Given the description of an element on the screen output the (x, y) to click on. 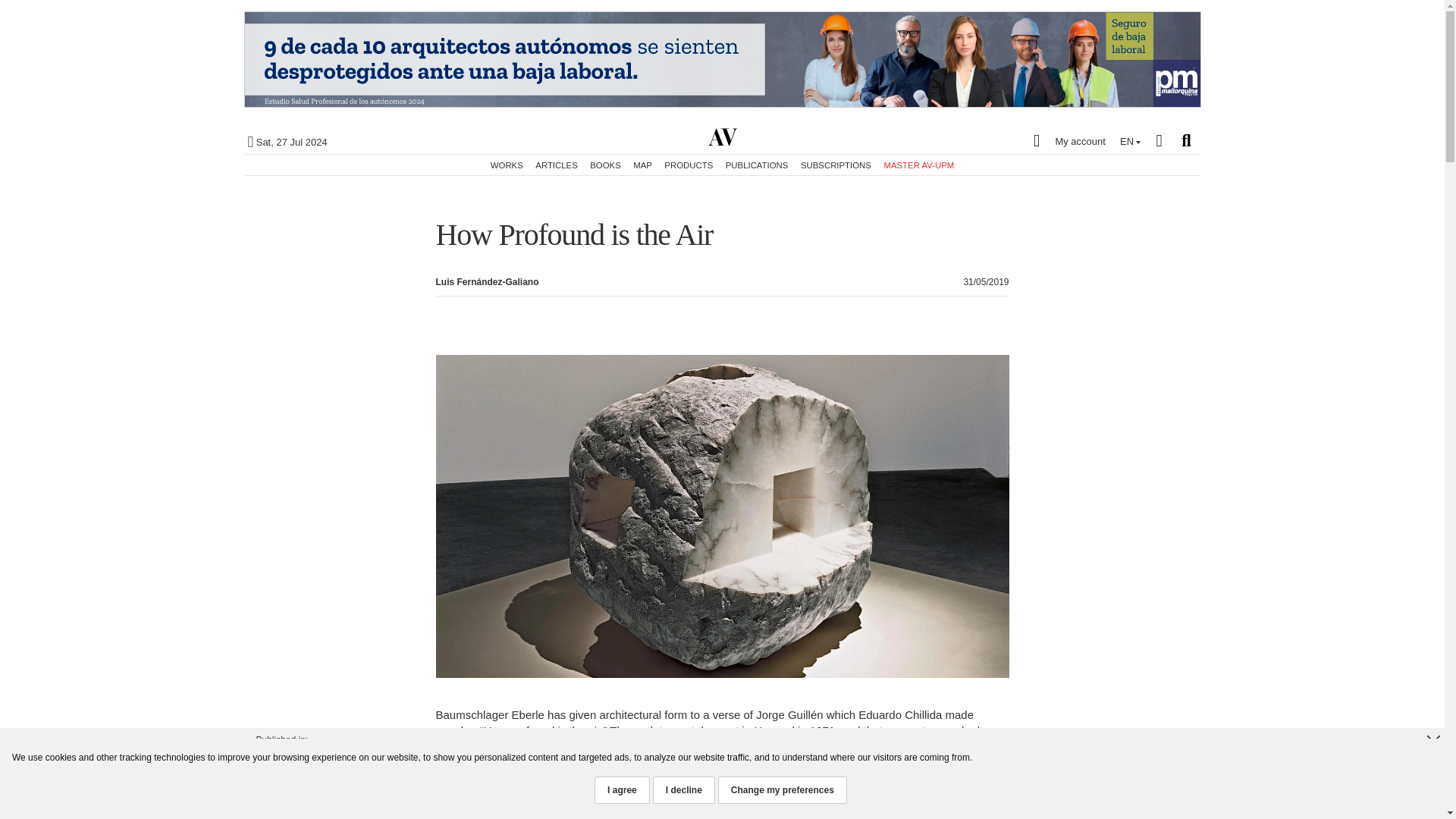
My account (1065, 139)
Add to favoites (1383, 122)
Change my preferences (782, 789)
I decline (683, 789)
Share this content (1383, 155)
I agree (621, 789)
Search (1185, 140)
